Given the description of an element on the screen output the (x, y) to click on. 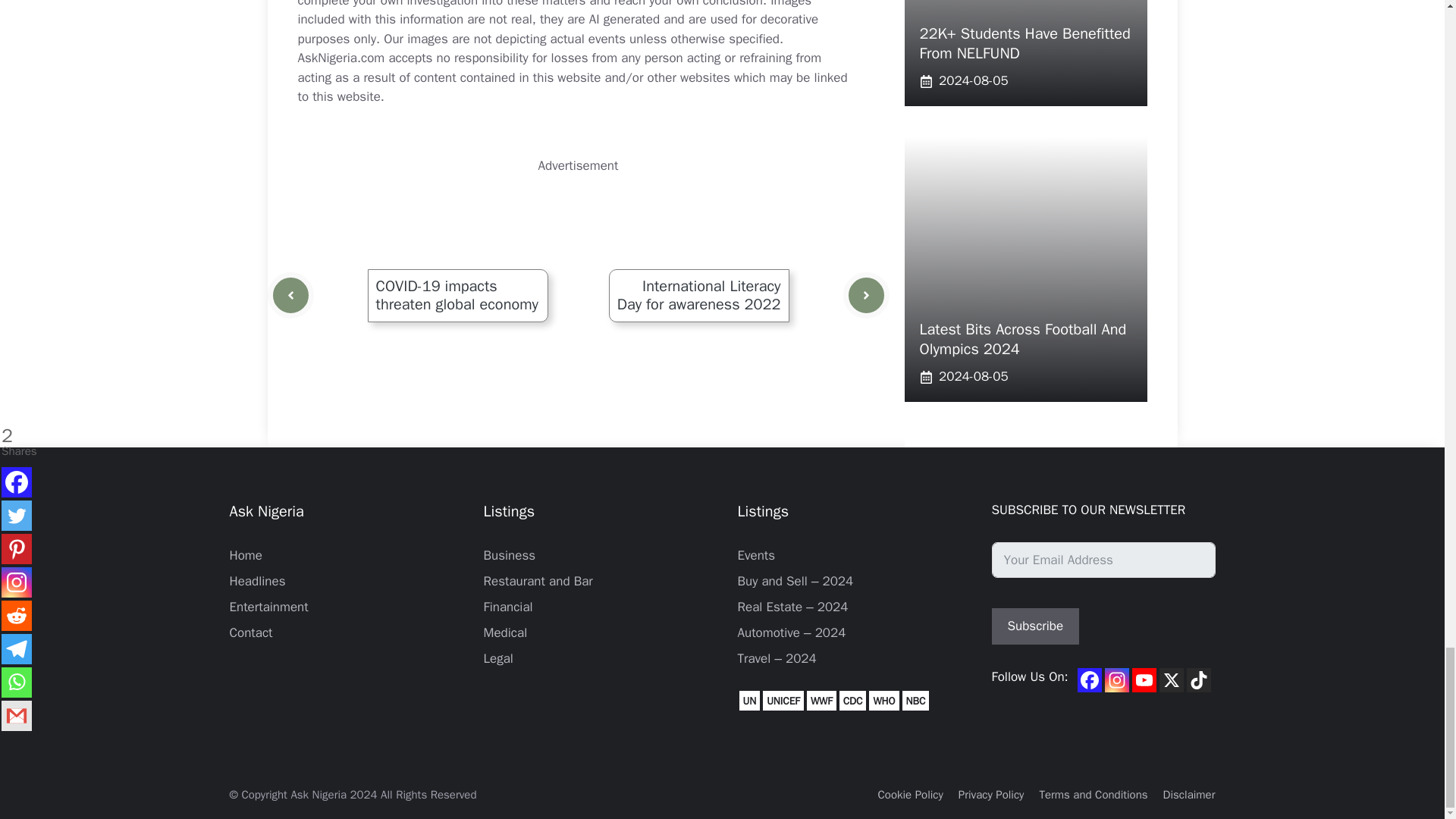
Instagram (1117, 680)
Youtube channel (1144, 680)
Facebook (1089, 680)
